Given the description of an element on the screen output the (x, y) to click on. 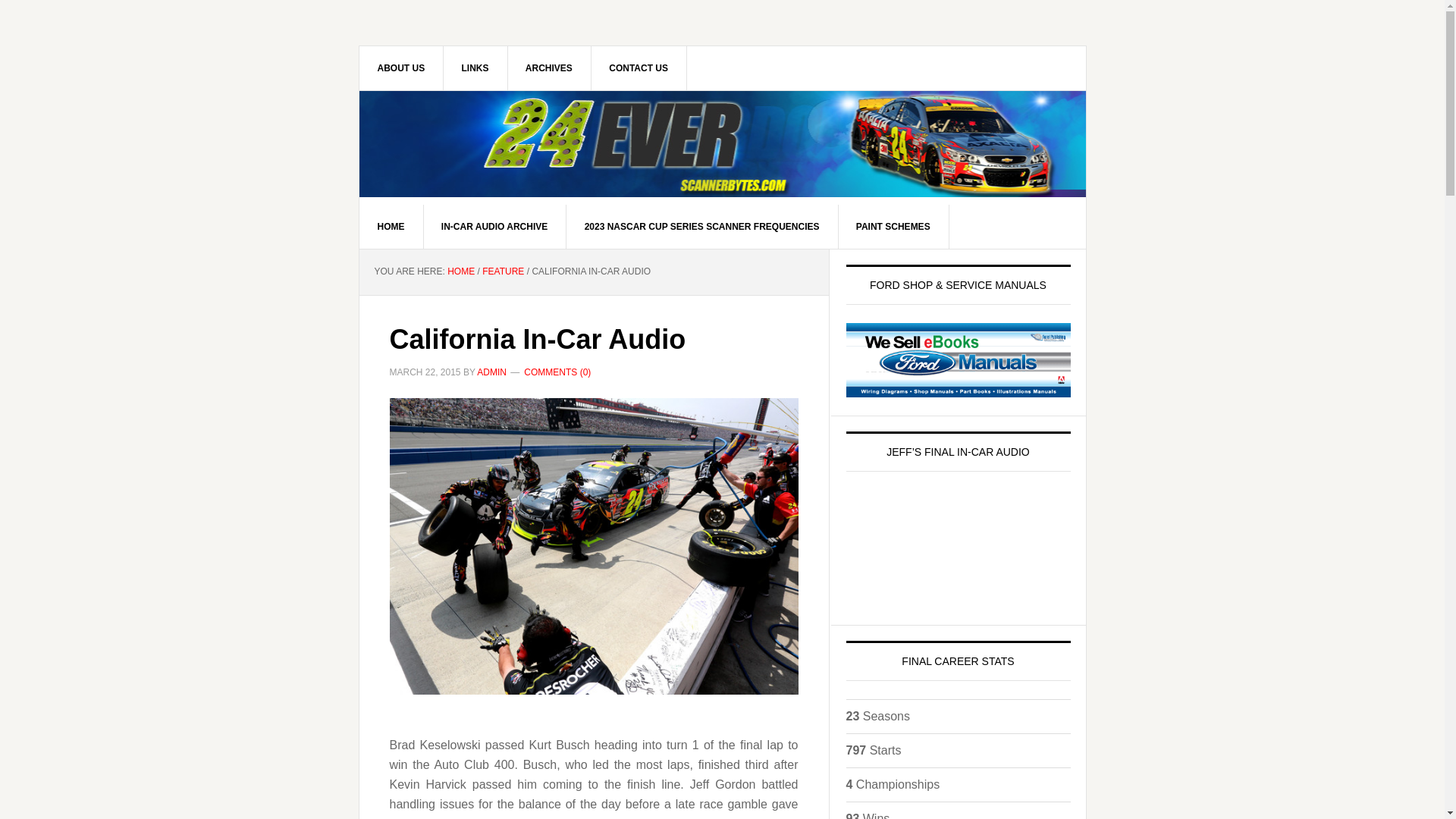
ADMIN (491, 371)
ABOUT US (401, 67)
PAINT SCHEMES (893, 226)
FEATURE (502, 271)
JEFF GORDON SCANNERBYTES IN-CAR AUDIO (722, 143)
LINKS (476, 67)
2023 NASCAR CUP SERIES SCANNER FREQUENCIES (702, 226)
IN-CAR AUDIO ARCHIVE (494, 226)
ARCHIVES (548, 67)
CONTACT US (639, 67)
HOME (391, 226)
HOME (460, 271)
